Given the description of an element on the screen output the (x, y) to click on. 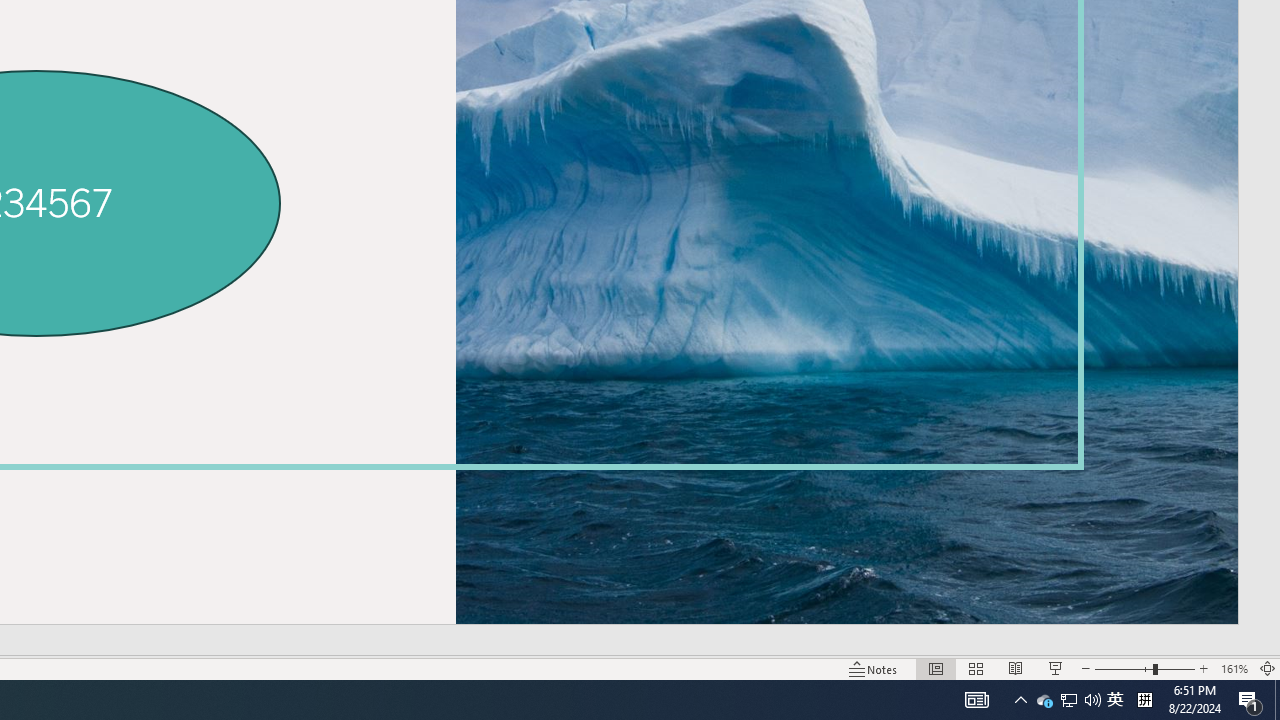
Zoom 161% (1234, 668)
Action Center, 1 new notification (1250, 699)
